Given the description of an element on the screen output the (x, y) to click on. 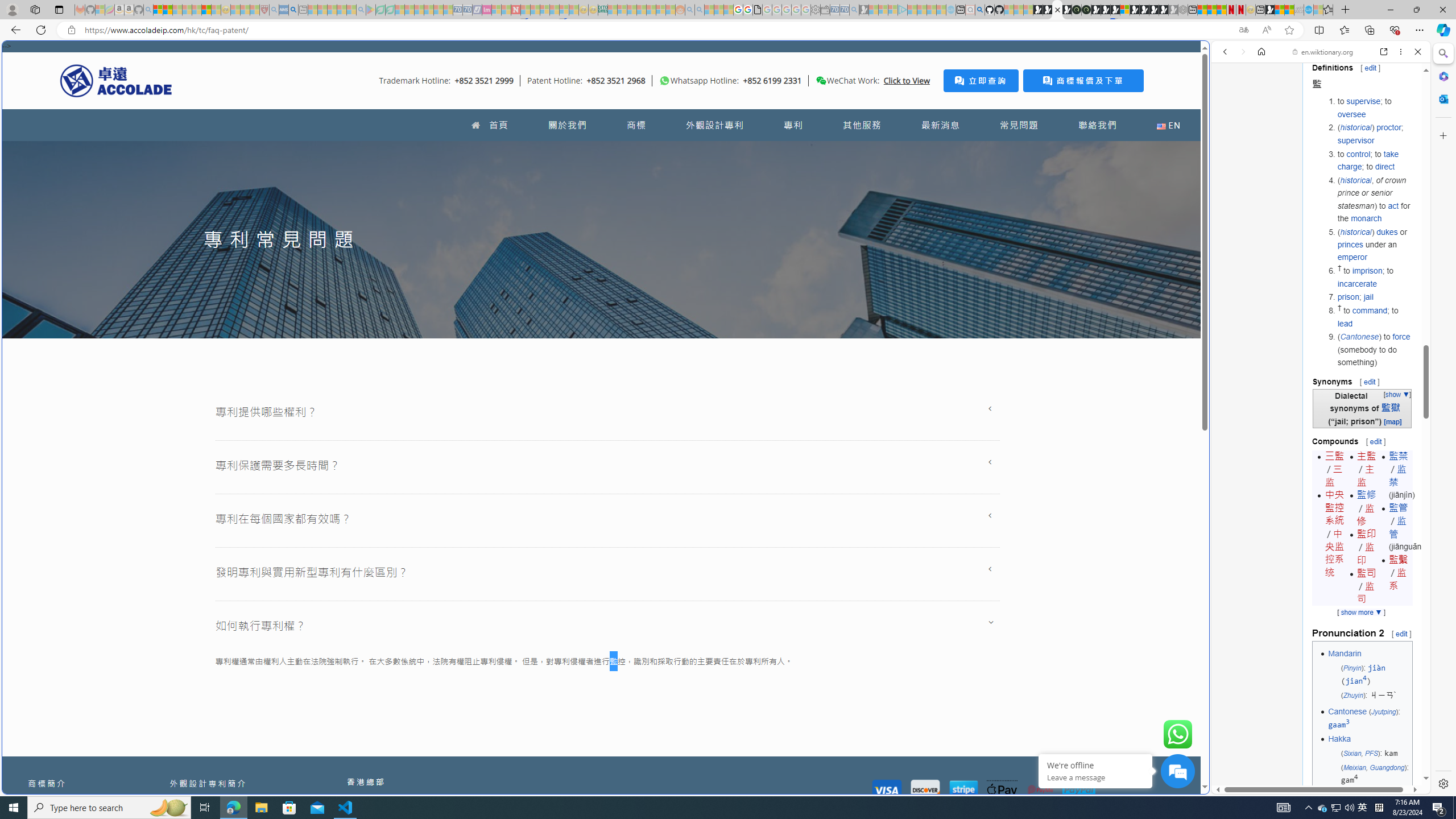
take charge (1367, 160)
Earth has six continents not seven, radical new study claims (1288, 9)
github - Search (979, 9)
